Given the description of an element on the screen output the (x, y) to click on. 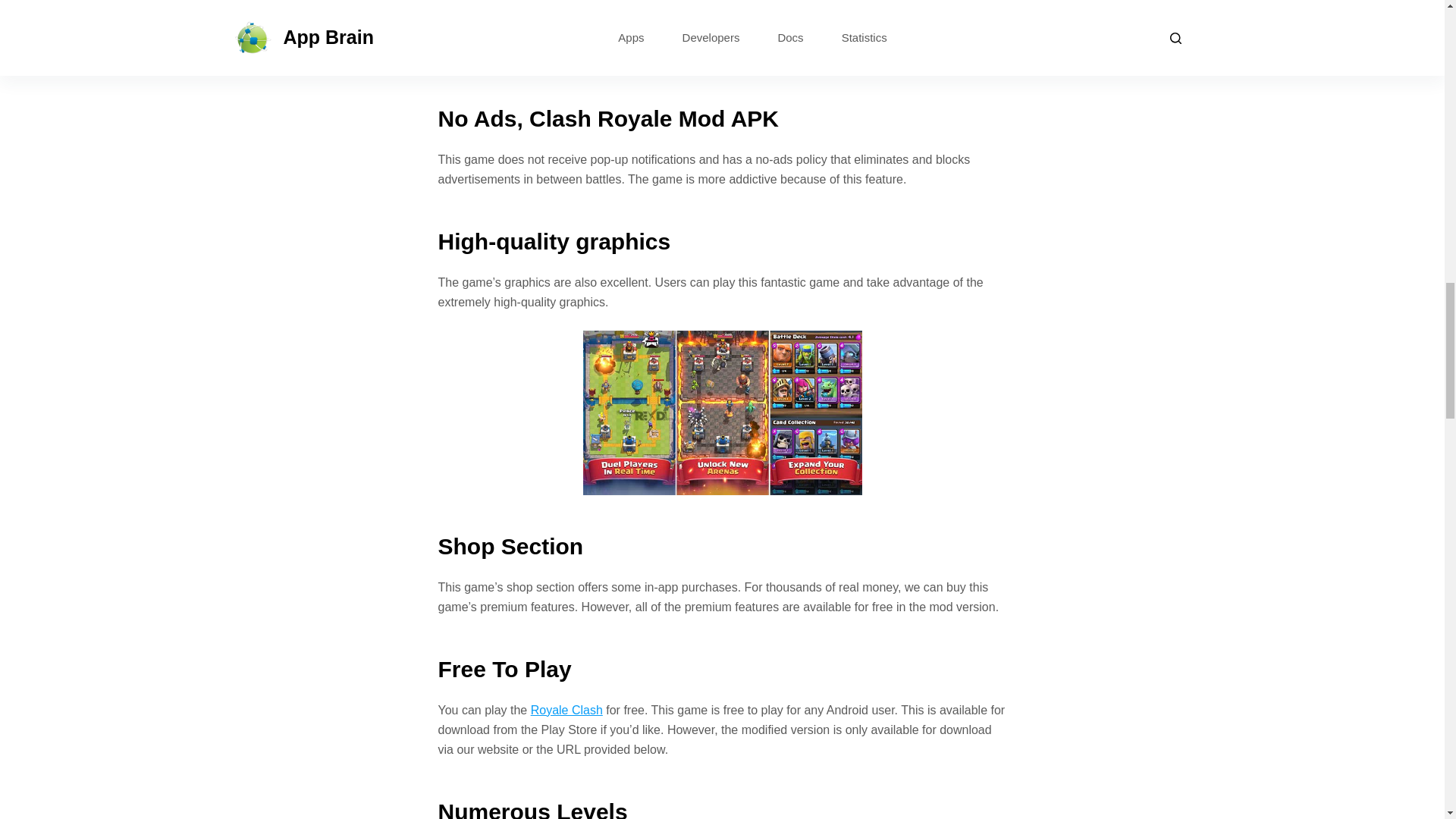
Royale Clash (566, 709)
